Given the description of an element on the screen output the (x, y) to click on. 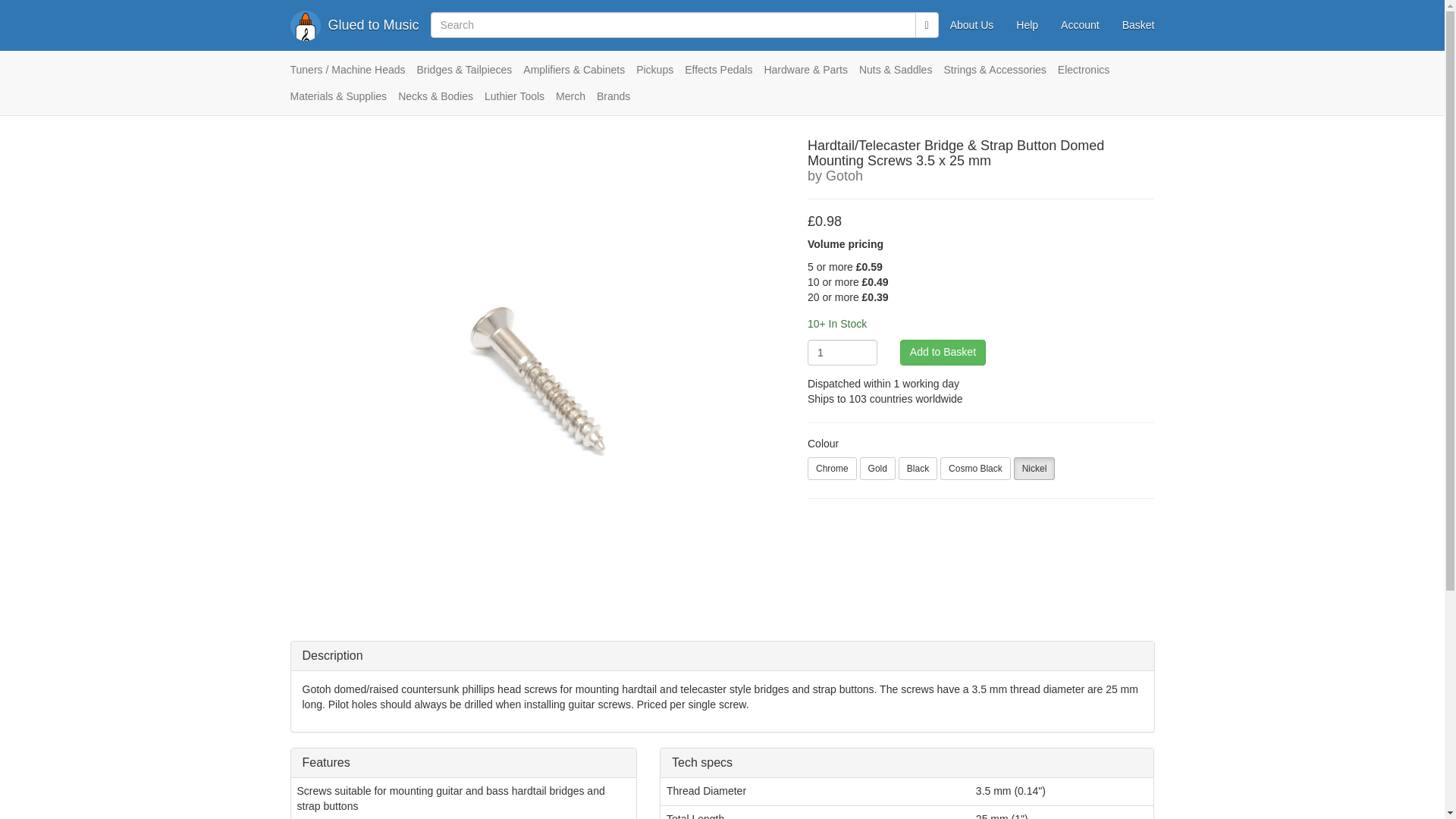
Electronics (1089, 75)
Basket (1138, 24)
Gold (877, 468)
Luthier Tools (520, 101)
Black (917, 468)
1 (842, 352)
Brands (619, 101)
Merch (576, 101)
Help (1026, 24)
Pickups (660, 75)
Nickel (1034, 468)
Add to Basket (942, 352)
Glued to Music (354, 24)
About Us (972, 24)
Account (1079, 24)
